Given the description of an element on the screen output the (x, y) to click on. 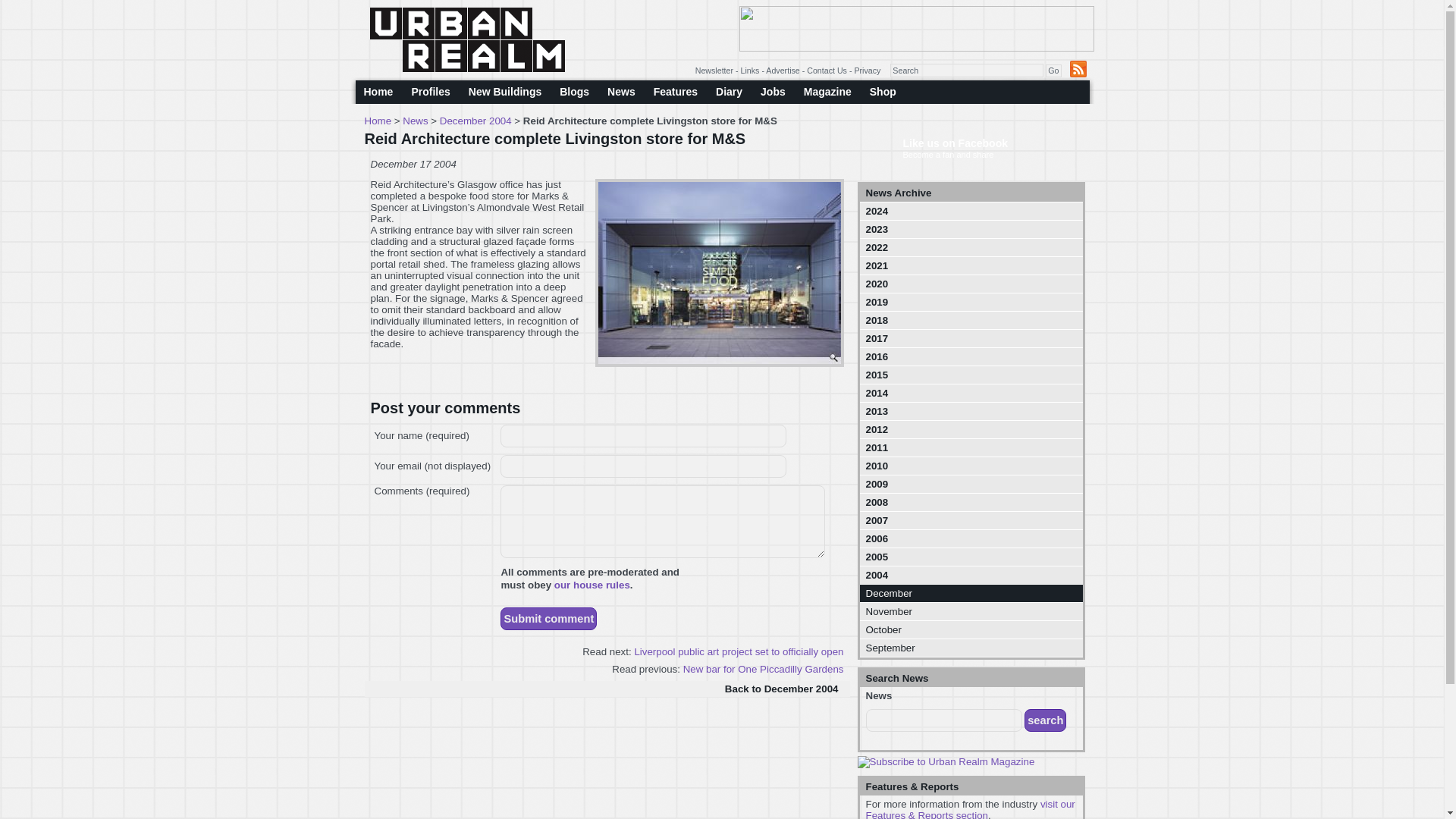
2024 (971, 210)
2023 (971, 229)
Submit comment (548, 618)
Get our RSS feed (1077, 68)
New bar for One Piccadilly Gardens (763, 668)
December 2004 (475, 120)
Advertise (782, 70)
Subscribe to Urban Realm Magazine (945, 761)
Liverpool public art project set to officially open (738, 651)
Home (379, 92)
Like us on Facebook (954, 143)
New Buildings (505, 92)
Go (1053, 70)
Diary (728, 92)
Links (750, 70)
